Given the description of an element on the screen output the (x, y) to click on. 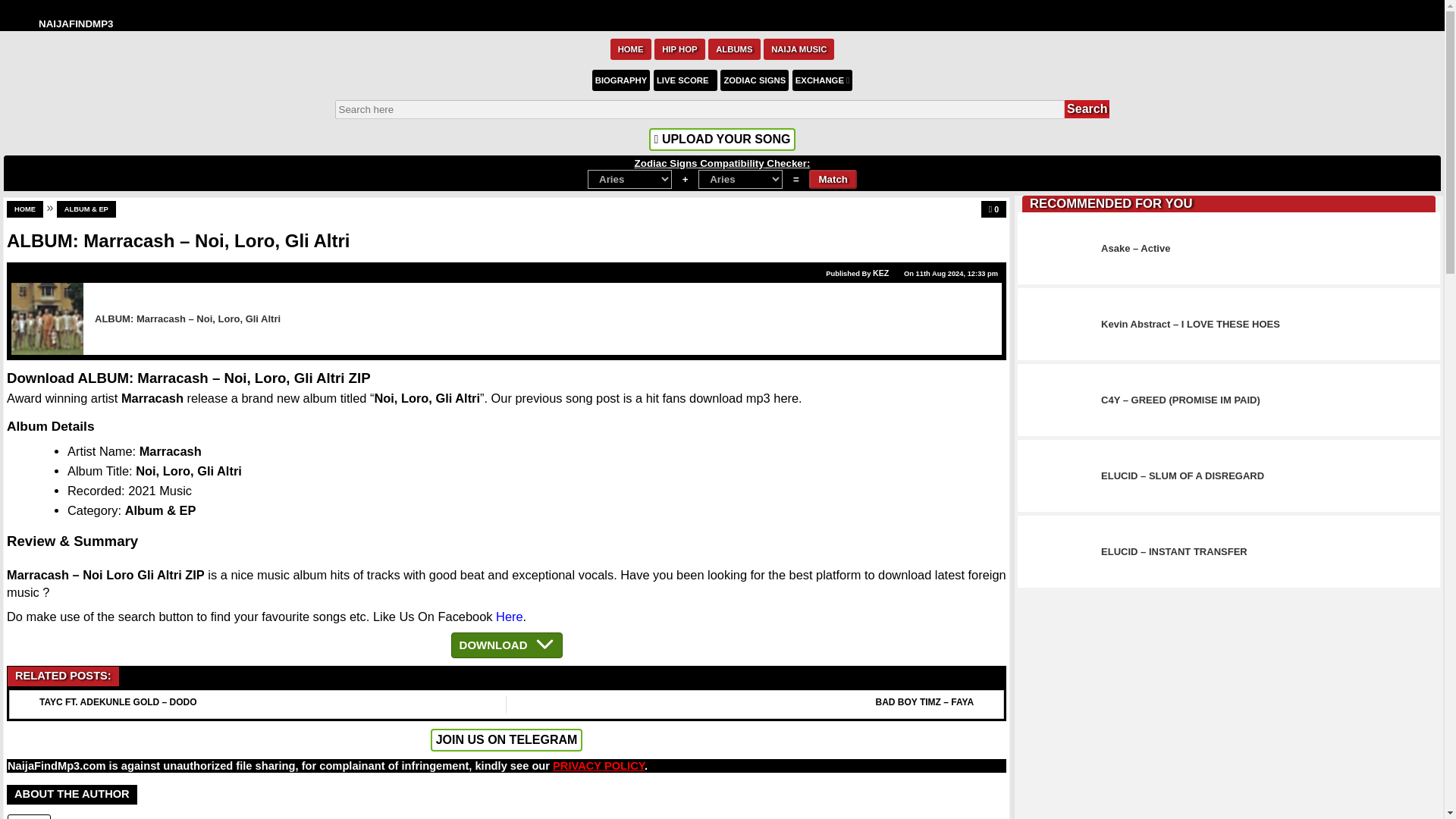
Match (833, 179)
JOIN US ON TELEGRAM (506, 739)
DOWNLOAD (506, 645)
EXCHANGE (822, 78)
HIP HOP (678, 47)
Here (509, 616)
HOME (630, 47)
Search (1086, 108)
download mp3 (729, 397)
Search (1086, 108)
